Given the description of an element on the screen output the (x, y) to click on. 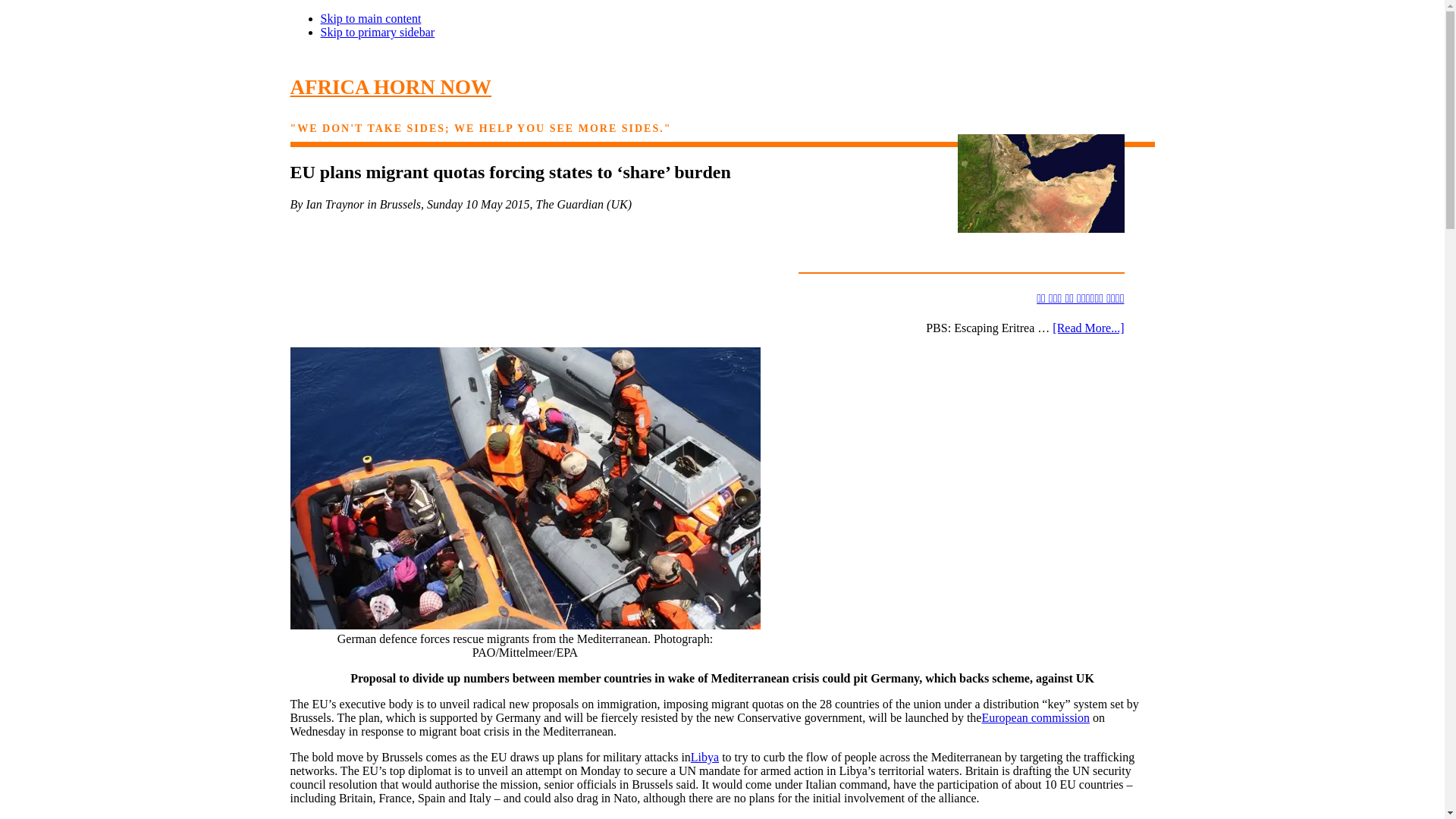
Skip to main content (370, 18)
Libya (704, 757)
European commission (1035, 717)
Skip to primary sidebar (376, 31)
AFRICA HORN NOW (390, 87)
